Given the description of an element on the screen output the (x, y) to click on. 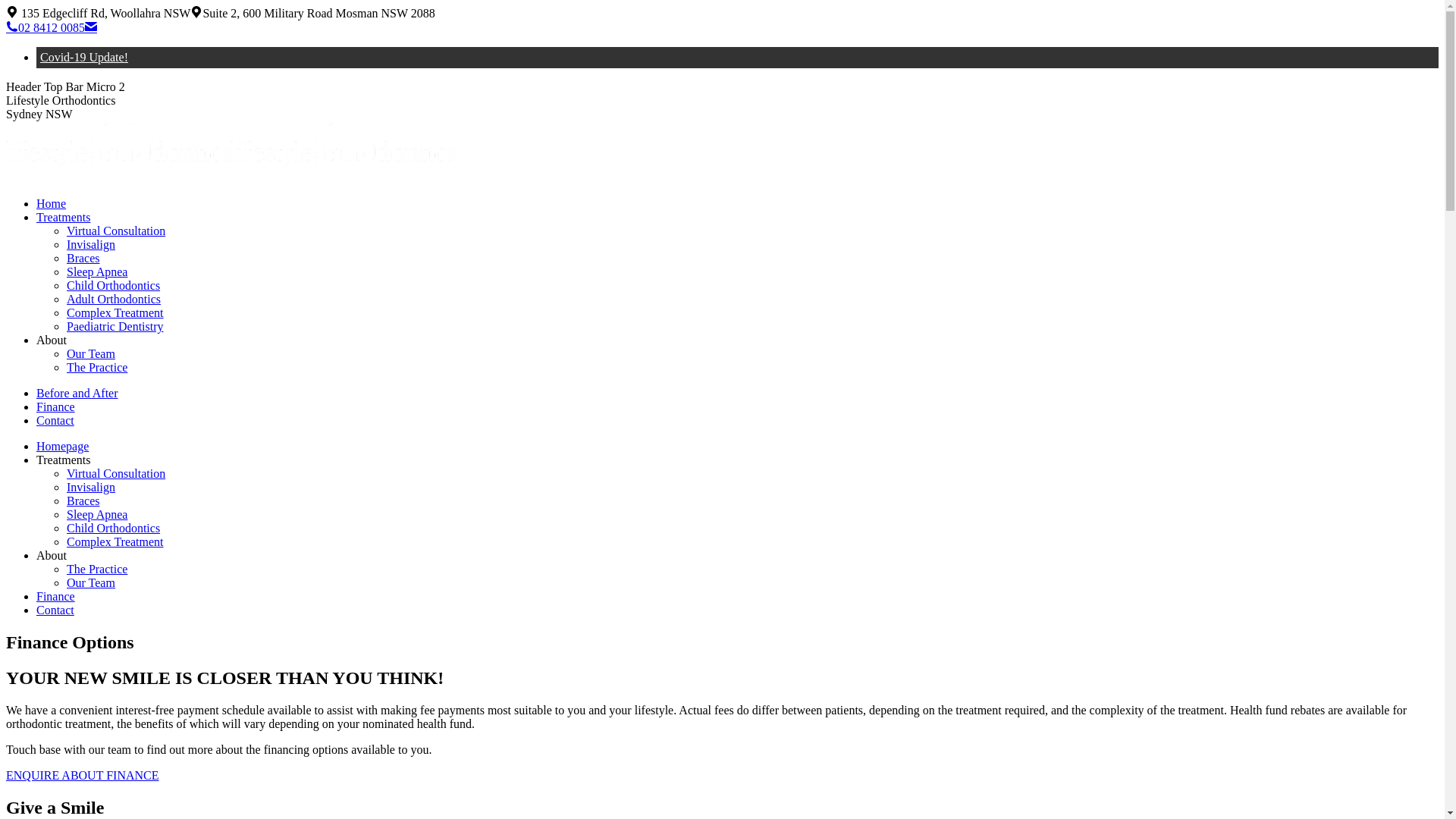
ENQUIRE ABOUT FINANCE Element type: text (82, 774)
Treatments Element type: text (63, 216)
Sleep Apnea Element type: text (96, 271)
Home Element type: text (50, 203)
Finance Element type: text (55, 595)
Complex Treatment Element type: text (114, 312)
Covid-19 Update! Element type: text (84, 56)
About Element type: text (51, 555)
Child Orthodontics Element type: text (113, 527)
Child Orthodontics Element type: text (113, 285)
Contact Element type: text (55, 420)
Skip to content Element type: text (5, 5)
Adult Orthodontics Element type: text (113, 298)
Before and After Element type: text (77, 392)
Virtual Consultation Element type: text (115, 230)
Paediatric Dentistry Element type: text (114, 326)
Complex Treatment Element type: text (114, 541)
Homepage Element type: text (62, 445)
The Practice Element type: text (96, 568)
The Practice Element type: text (96, 366)
Our Team Element type: text (90, 353)
Our Team Element type: text (90, 582)
Treatments Element type: text (63, 459)
Invisalign Element type: text (90, 244)
Contact Element type: text (55, 609)
Finance Element type: text (55, 406)
Virtual Consultation Element type: text (115, 473)
Braces Element type: text (83, 257)
About Element type: text (51, 339)
Braces Element type: text (83, 500)
02 8412 0085 Element type: text (45, 27)
Invisalign Element type: text (90, 486)
Sleep Apnea Element type: text (96, 514)
